Given the description of an element on the screen output the (x, y) to click on. 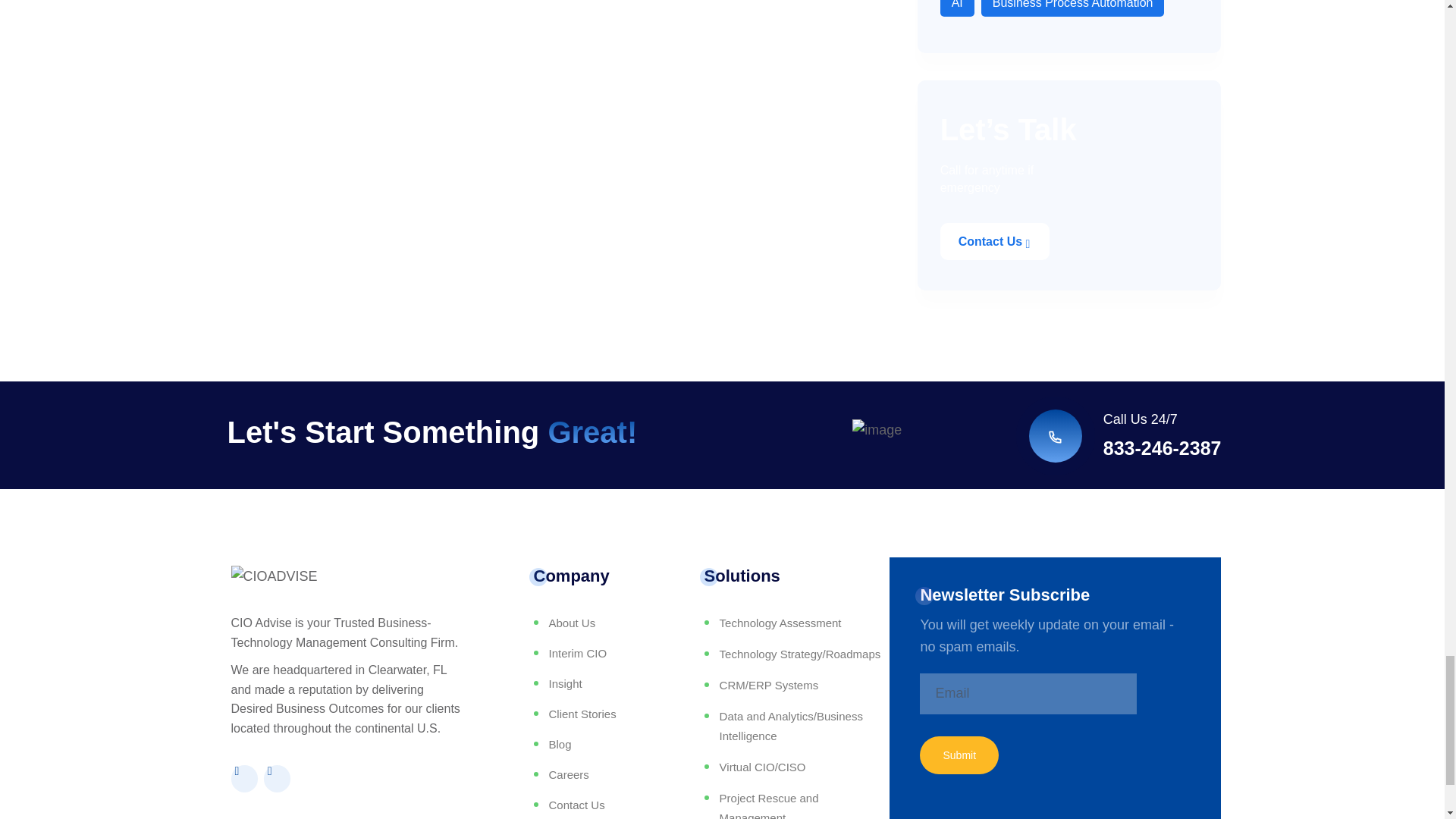
Submit (959, 754)
